Given the description of an element on the screen output the (x, y) to click on. 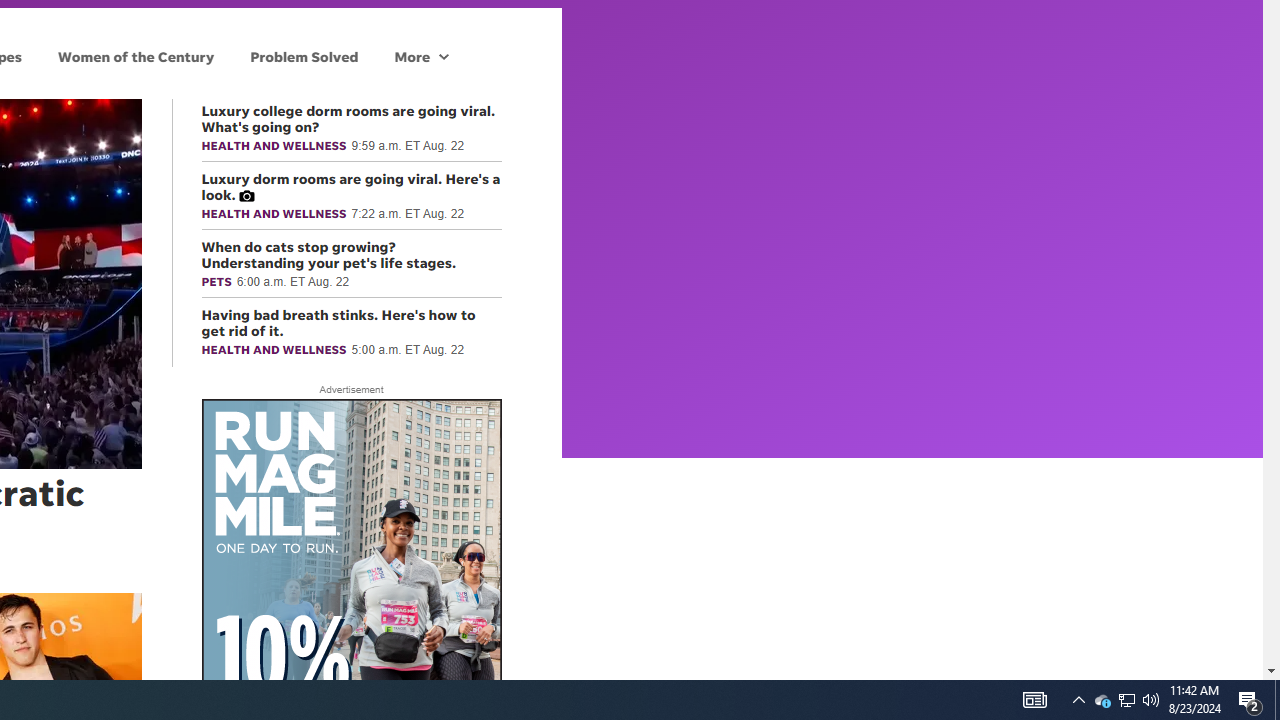
Women of the Century (136, 56)
Problem Solved (304, 56)
More life navigation (421, 56)
